Given the description of an element on the screen output the (x, y) to click on. 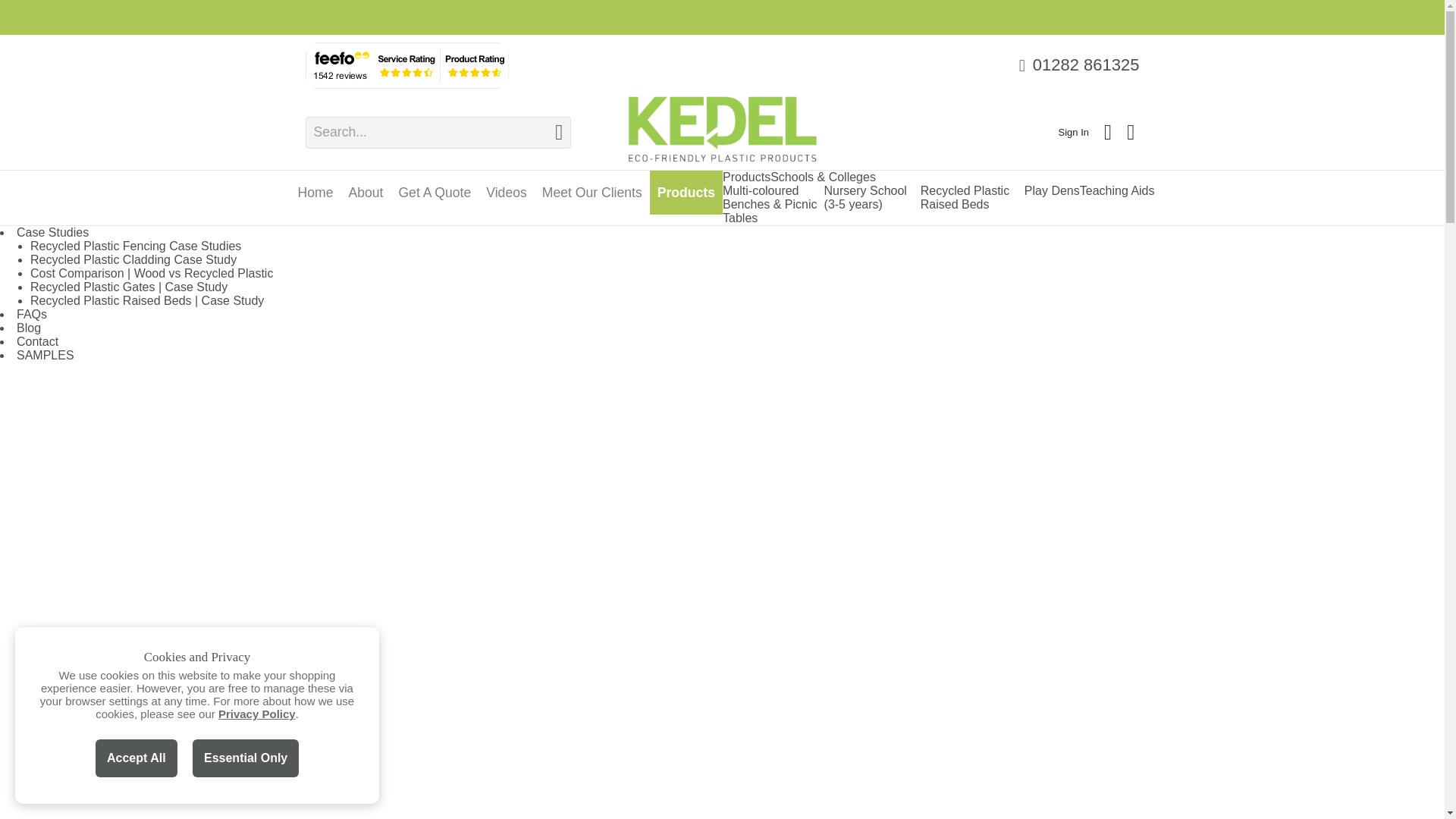
Sign In (1073, 132)
Meet Our Clients (591, 192)
Get A Quote (434, 192)
Products (685, 192)
About (365, 192)
Home (314, 192)
Our customer Feefo rating (406, 65)
Videos (506, 192)
Frequently asked Questions and Useful Info (31, 314)
01282 861325 (1086, 64)
